Given the description of an element on the screen output the (x, y) to click on. 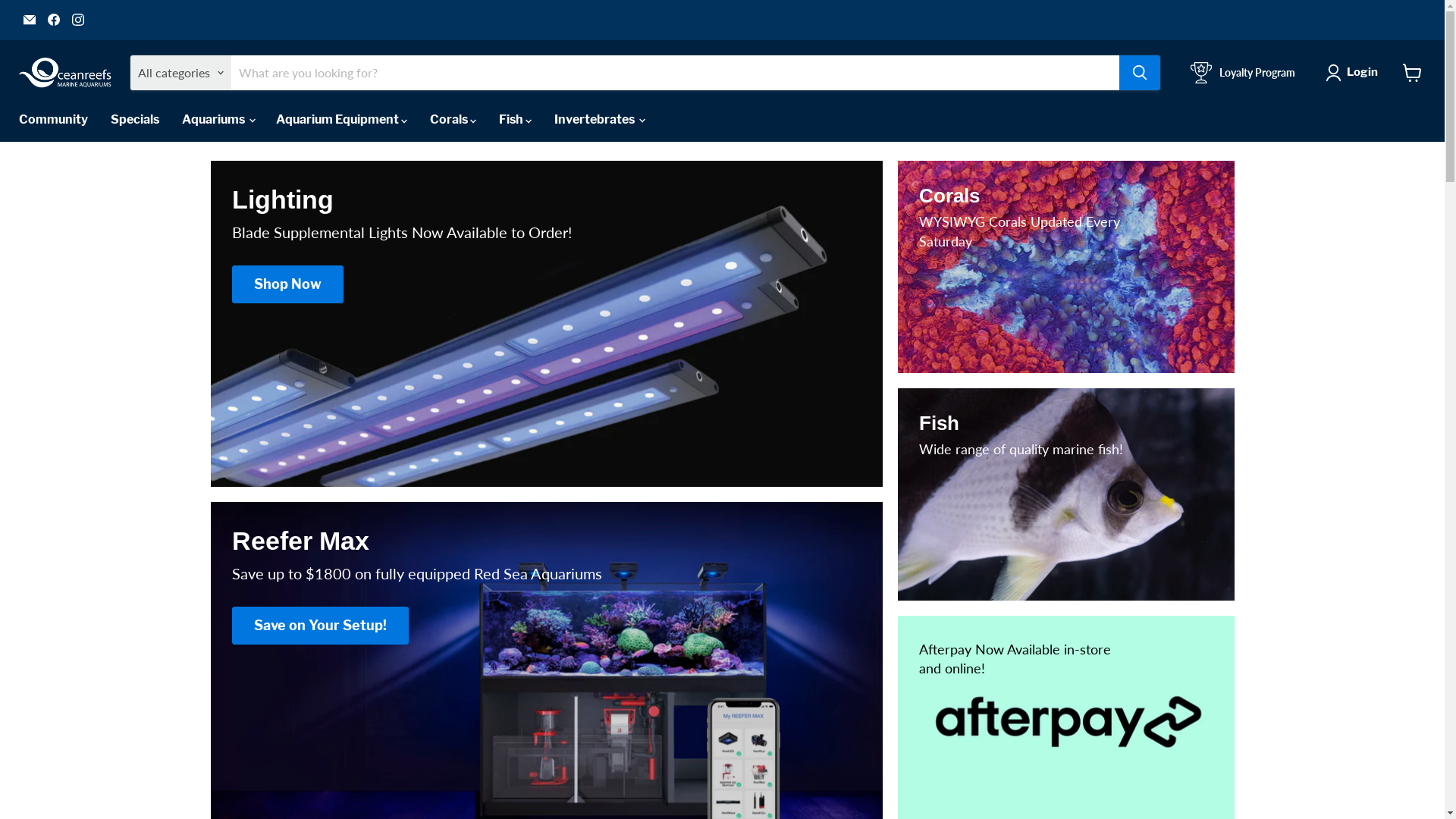
Specials Element type: text (134, 119)
Find us on Instagram Element type: text (77, 19)
Fish
Wide range of quality marine fish! Element type: text (1065, 494)
Loyalty Program Element type: text (1242, 72)
Corals
WYSIWYG Corals Updated Every Saturday Element type: text (1065, 266)
Find us on Facebook Element type: text (53, 19)
Community Element type: text (53, 119)
Email Ocean Reefs Marine Aquariums Element type: text (29, 19)
View cart Element type: text (1412, 72)
Login Element type: text (1354, 72)
